Given the description of an element on the screen output the (x, y) to click on. 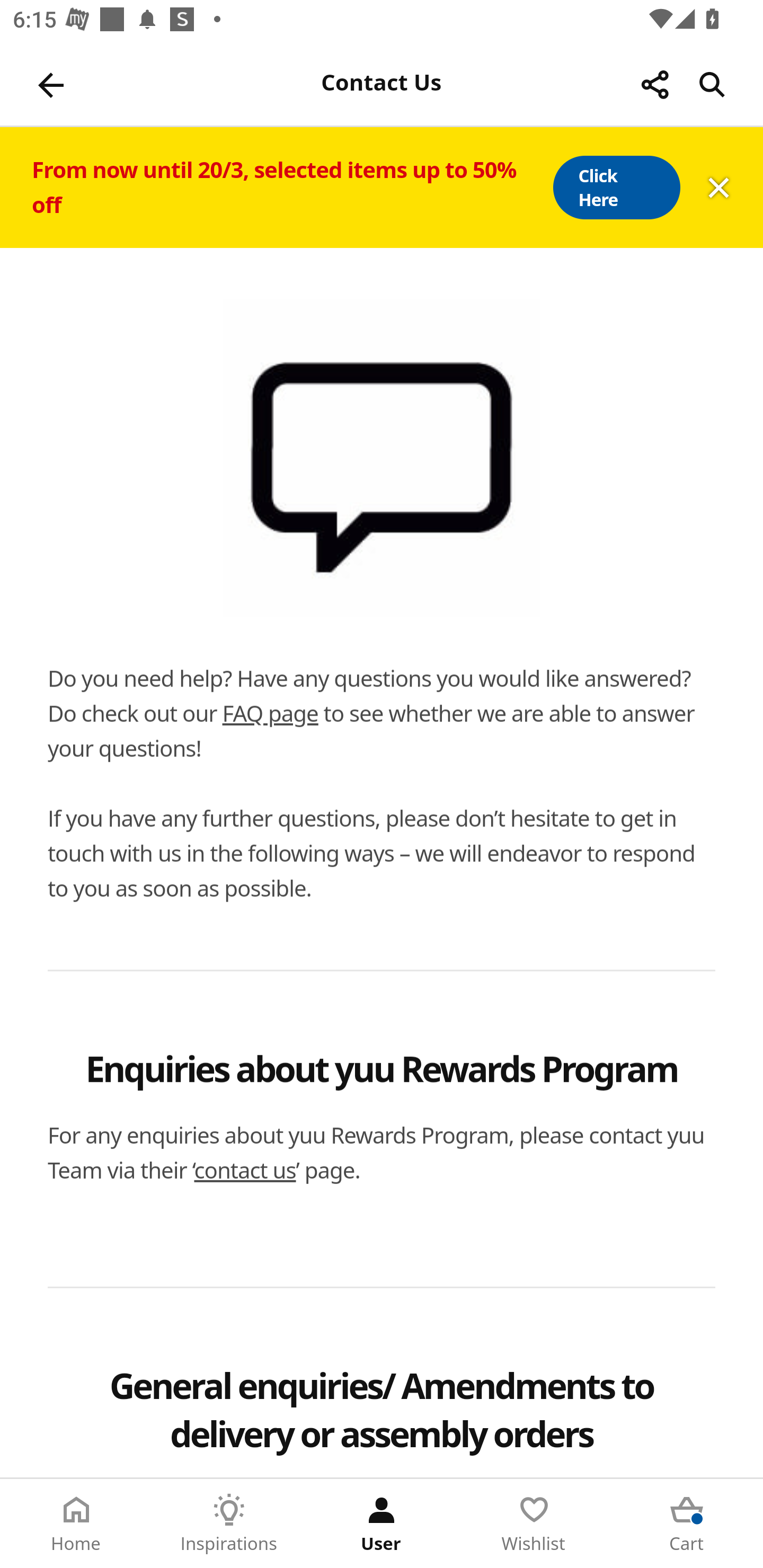
Click Here (615, 187)
FAQ page (270, 713)
contact us (245, 1169)
Home
Tab 1 of 5 (76, 1522)
Inspirations
Tab 2 of 5 (228, 1522)
User
Tab 3 of 5 (381, 1522)
Wishlist
Tab 4 of 5 (533, 1522)
Cart
Tab 5 of 5 (686, 1522)
